Given the description of an element on the screen output the (x, y) to click on. 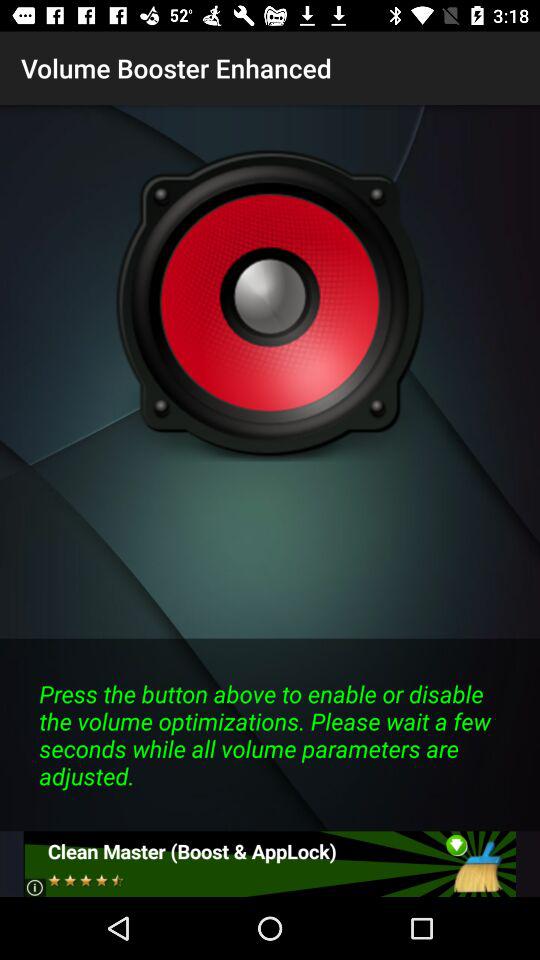
go to advertisements website (269, 864)
